Given the description of an element on the screen output the (x, y) to click on. 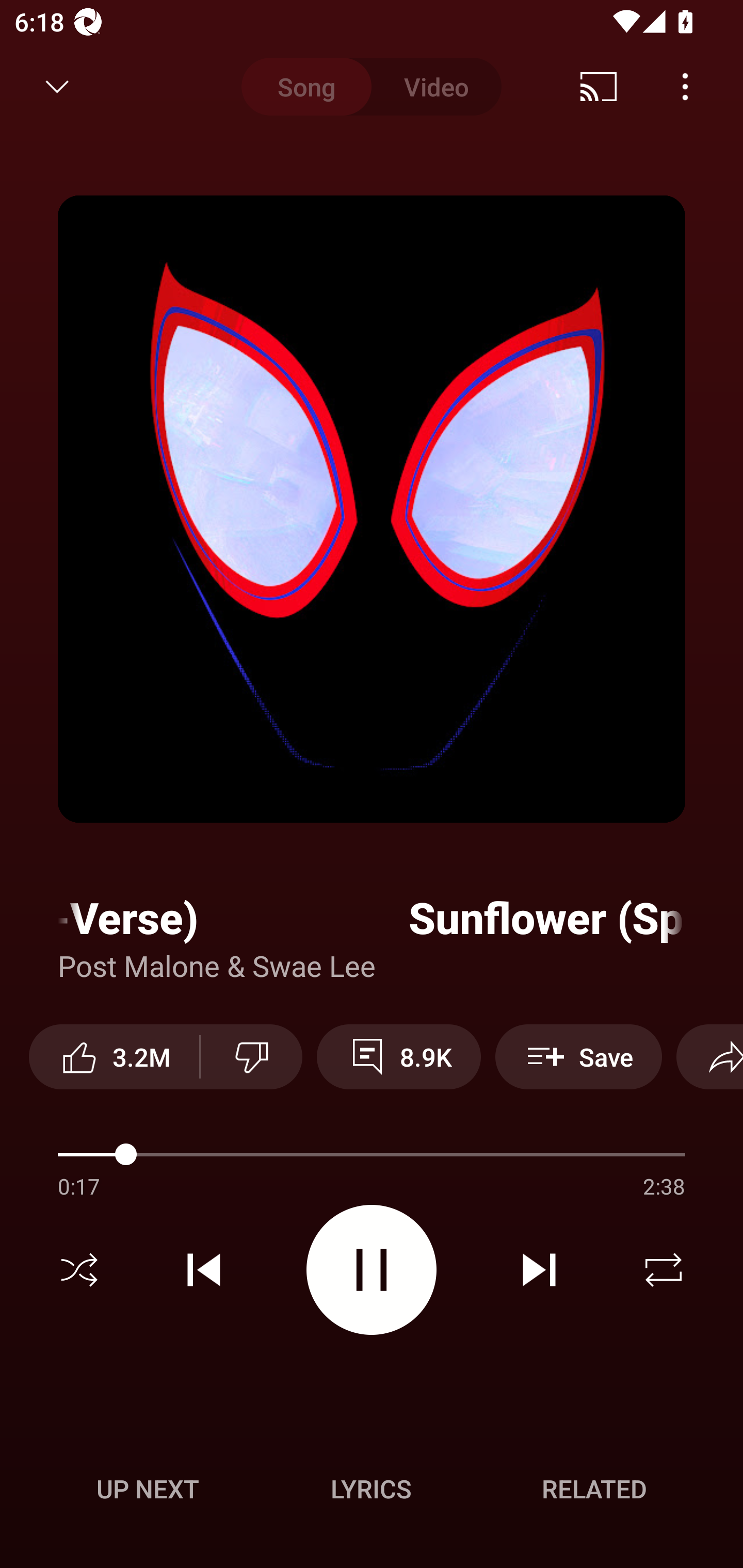
Minimize (57, 86)
Cast. Disconnected (598, 86)
Menu (684, 86)
Dislike (251, 1056)
8.9K View 8,905 comments (398, 1056)
Save Save to playlist (578, 1056)
Share (709, 1056)
Pause video (371, 1269)
Shuffle off (79, 1269)
Previous track (203, 1269)
Next track (538, 1269)
Repeat off (663, 1269)
Up next UP NEXT Lyrics LYRICS Related RELATED (371, 1491)
Lyrics LYRICS (370, 1488)
Related RELATED (594, 1488)
